Given the description of an element on the screen output the (x, y) to click on. 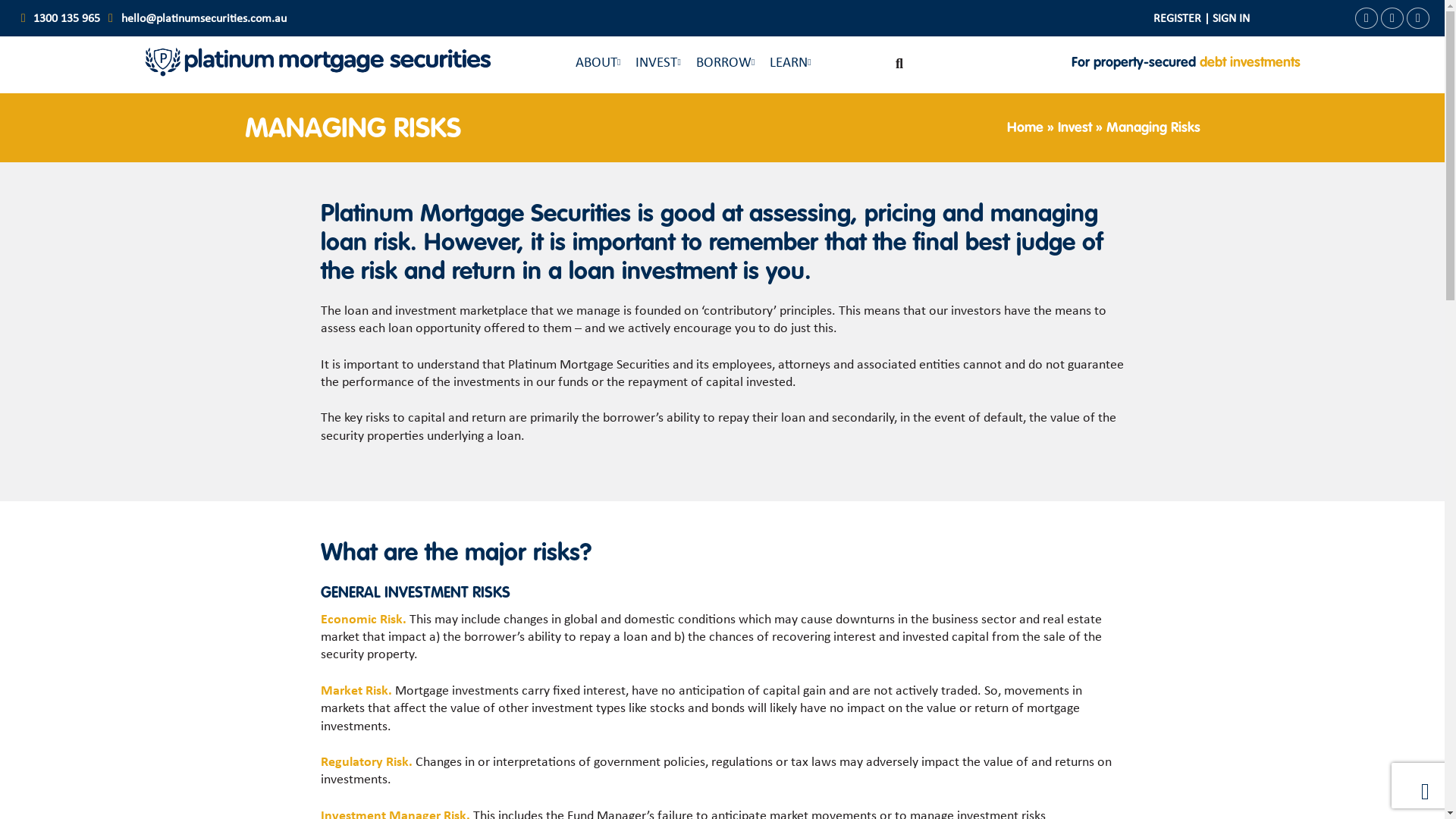
REGISTER Element type: text (1177, 18)
LEARN Element type: text (788, 63)
SIGN IN Element type: text (1230, 18)
Invest Element type: text (1074, 127)
Home Element type: text (1025, 127)
1300 135 965 Element type: text (66, 18)
SUBSCRIBE Element type: text (909, 744)
ABOUT Element type: text (596, 63)
hello@platinumsecurities.com.au Element type: text (203, 18)
BORROW Element type: text (723, 63)
INVEST Element type: text (656, 63)
